Given the description of an element on the screen output the (x, y) to click on. 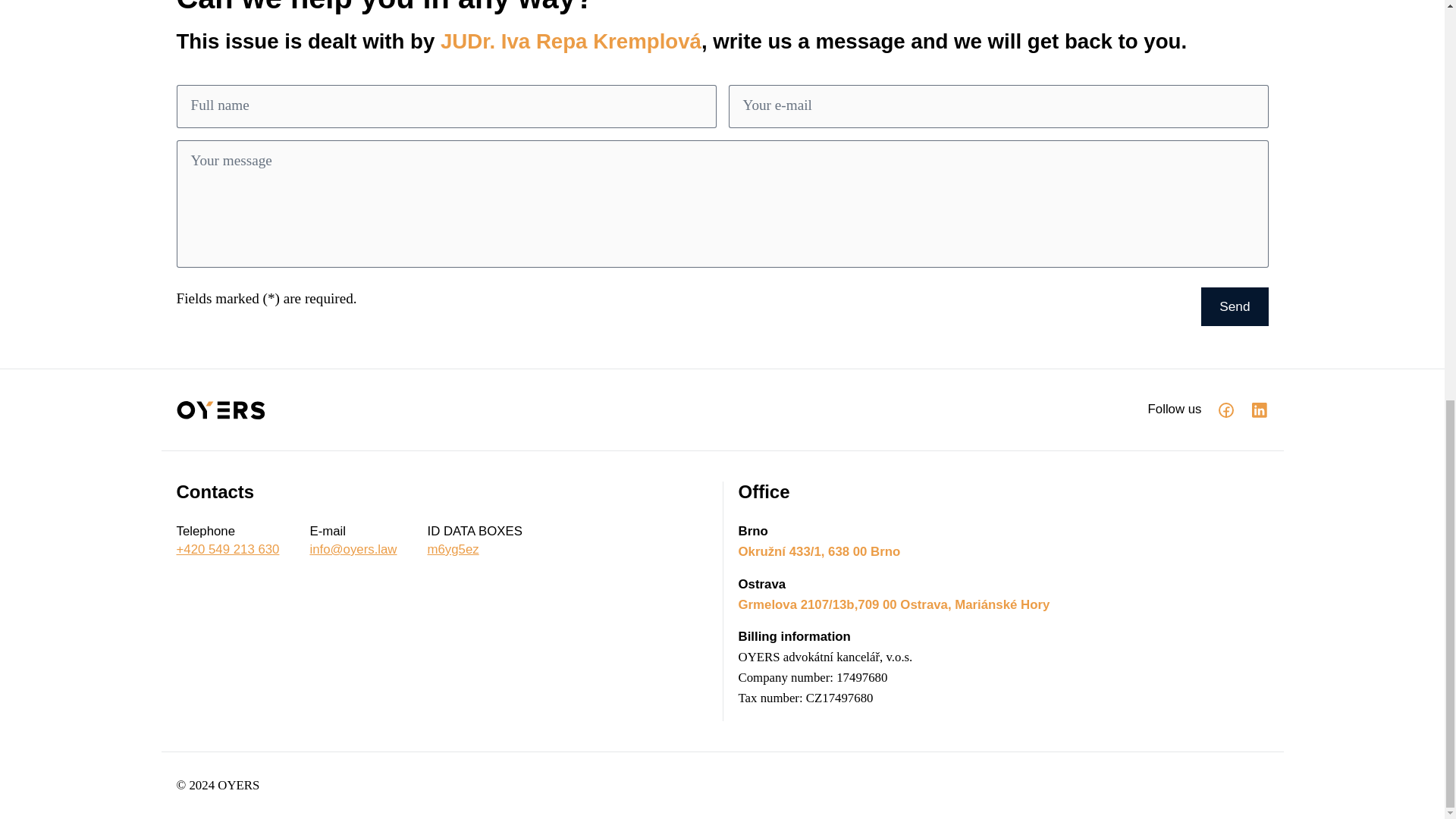
facebook (475, 539)
LinkedIn (1224, 410)
Send (1258, 410)
Send (1234, 306)
